Given the description of an element on the screen output the (x, y) to click on. 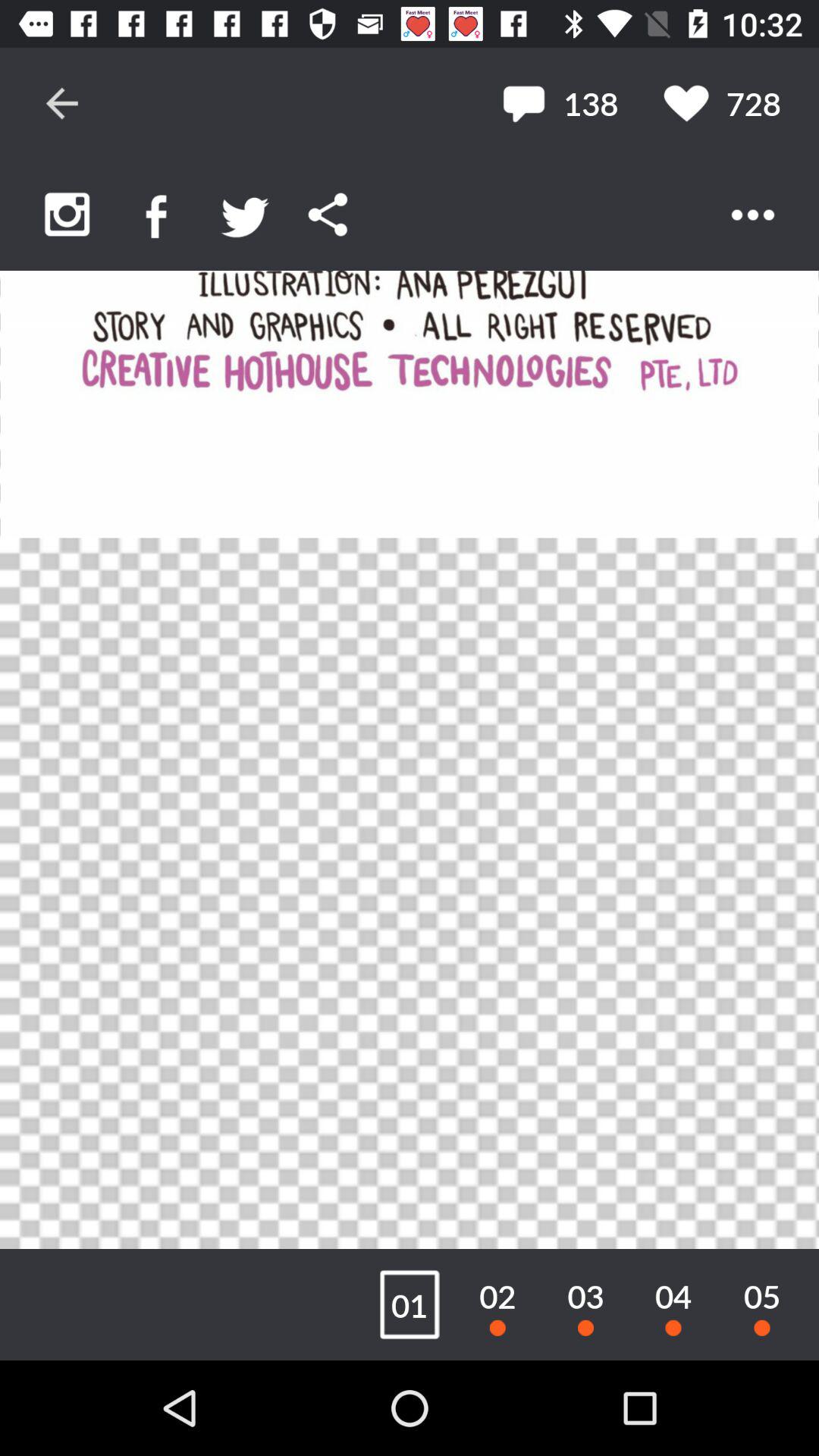
share on twitter (245, 214)
